Given the description of an element on the screen output the (x, y) to click on. 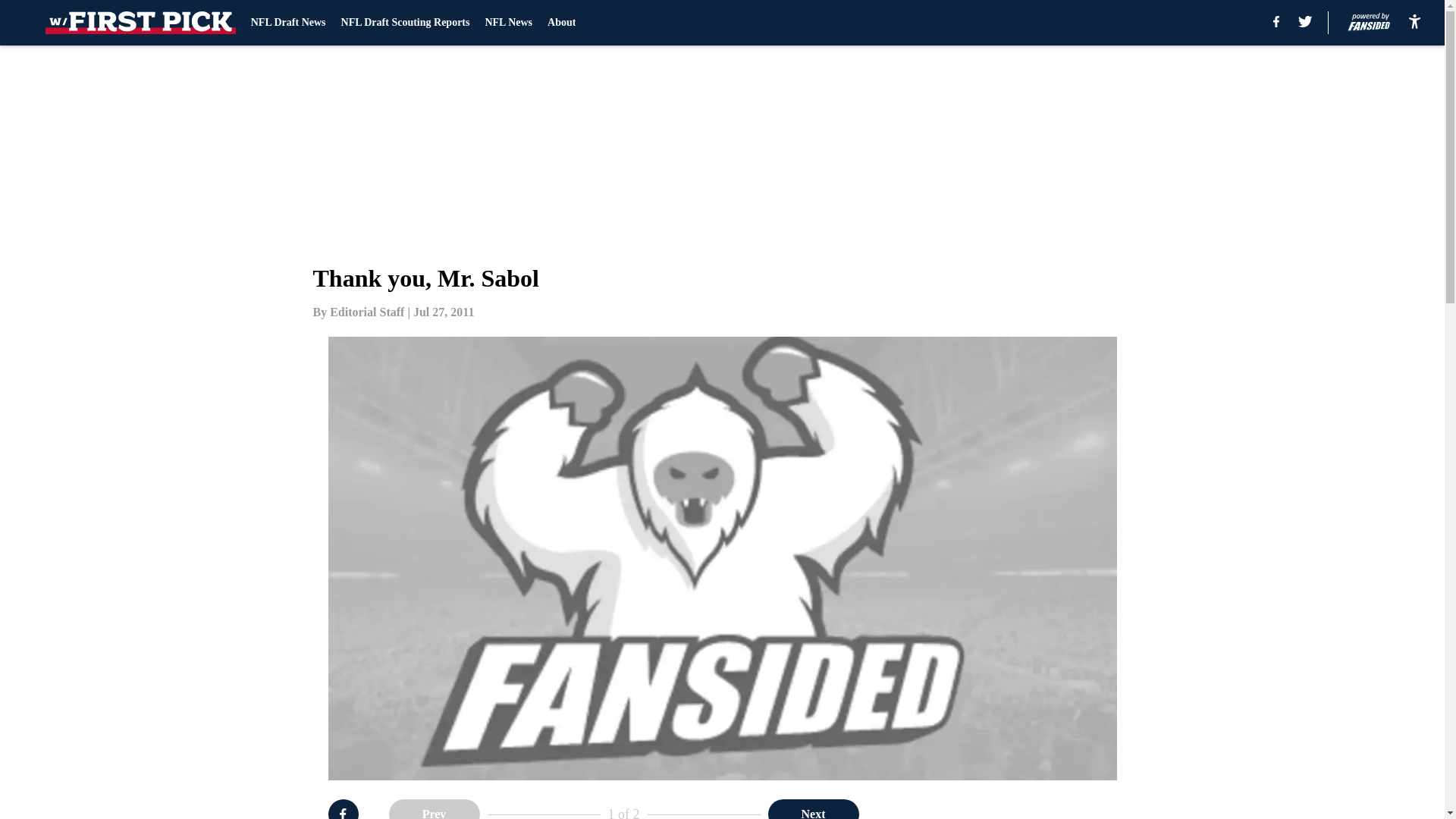
NFL Draft News (288, 22)
About (561, 22)
Prev (433, 809)
NFL Draft Scouting Reports (405, 22)
Next (813, 809)
NFL News (508, 22)
